Given the description of an element on the screen output the (x, y) to click on. 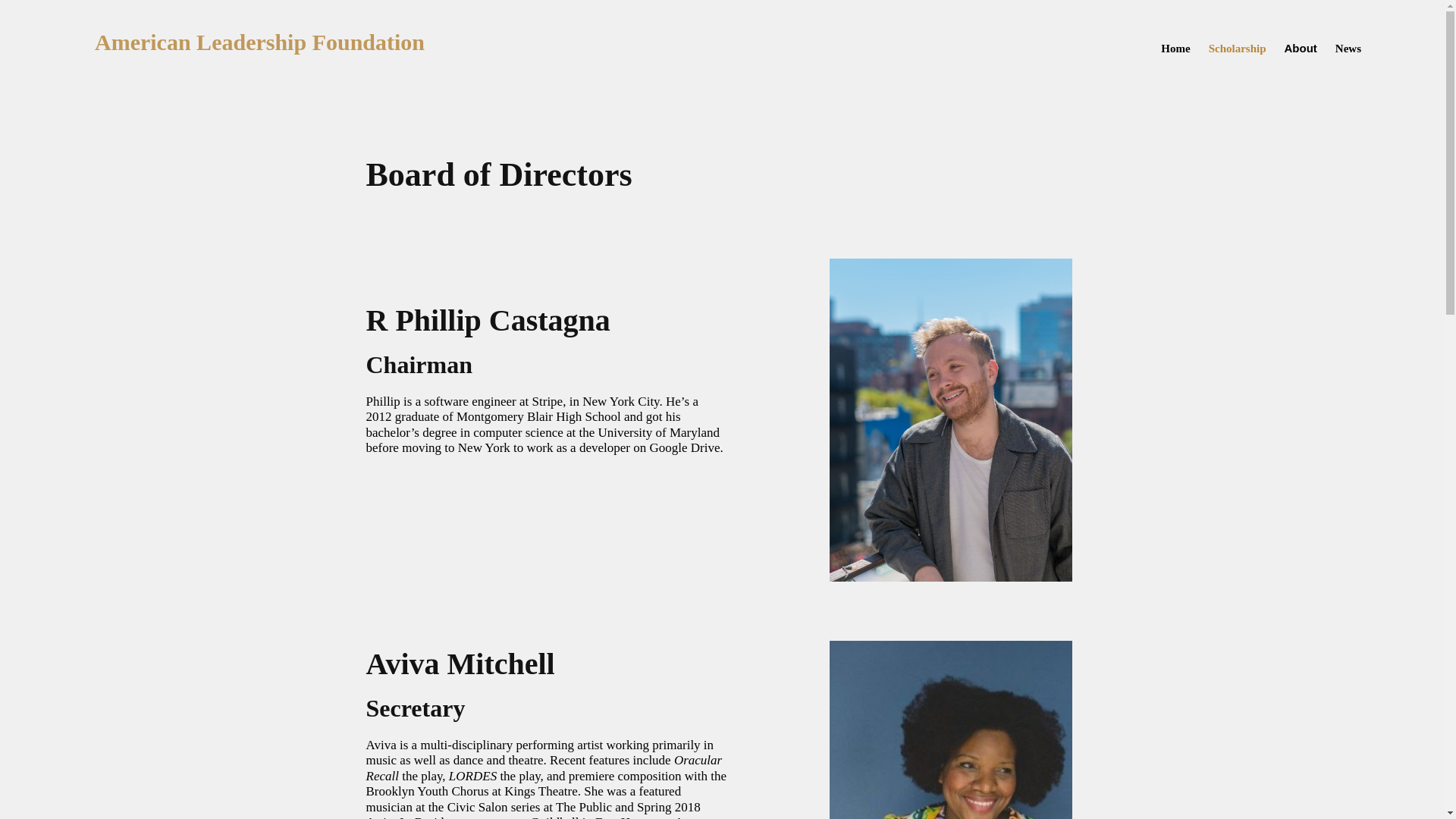
About (1300, 47)
Home (1174, 47)
Scholarship (1237, 47)
American Leadership Foundation (259, 41)
